Given the description of an element on the screen output the (x, y) to click on. 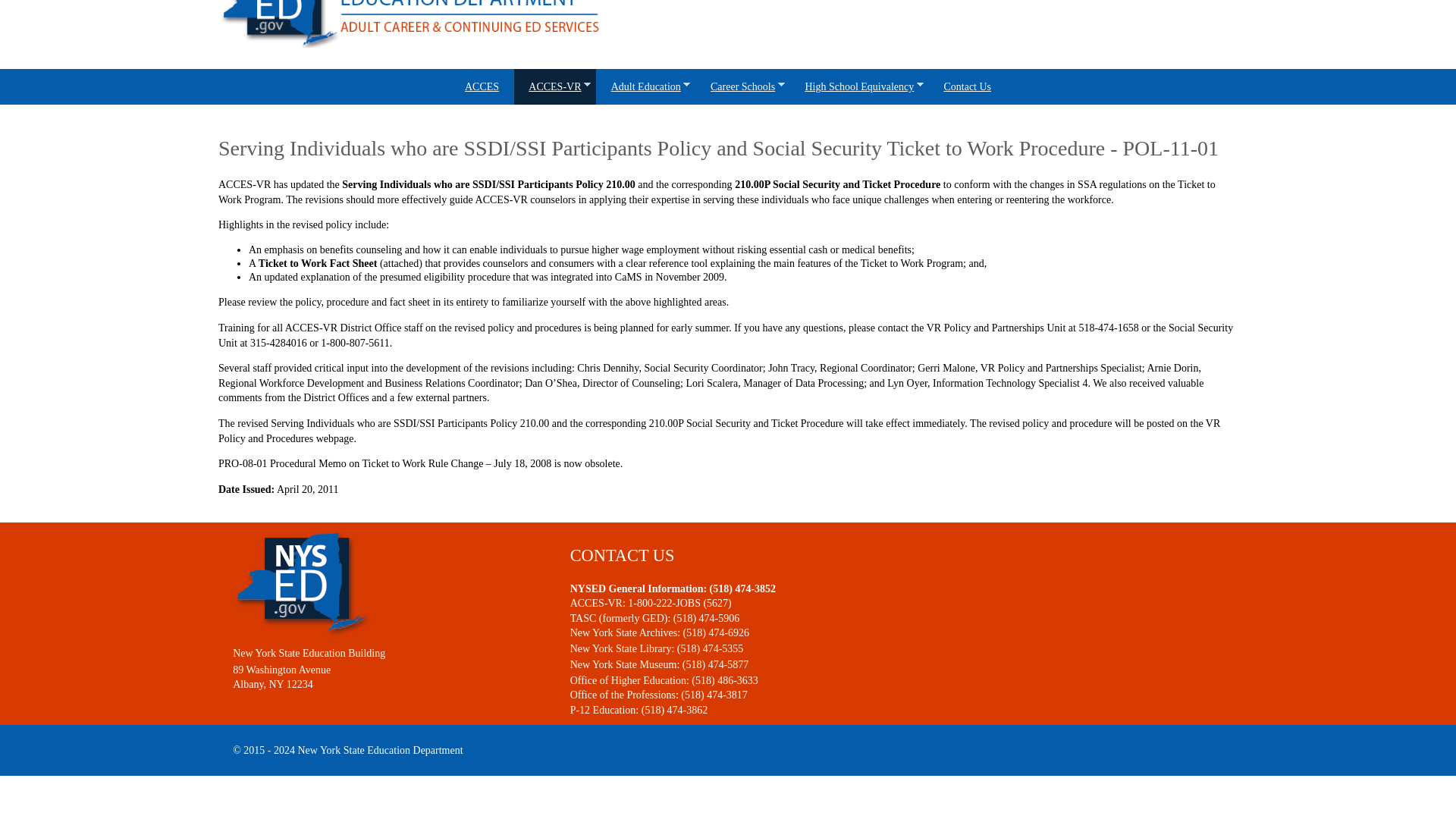
ACCES (481, 86)
